Given the description of an element on the screen output the (x, y) to click on. 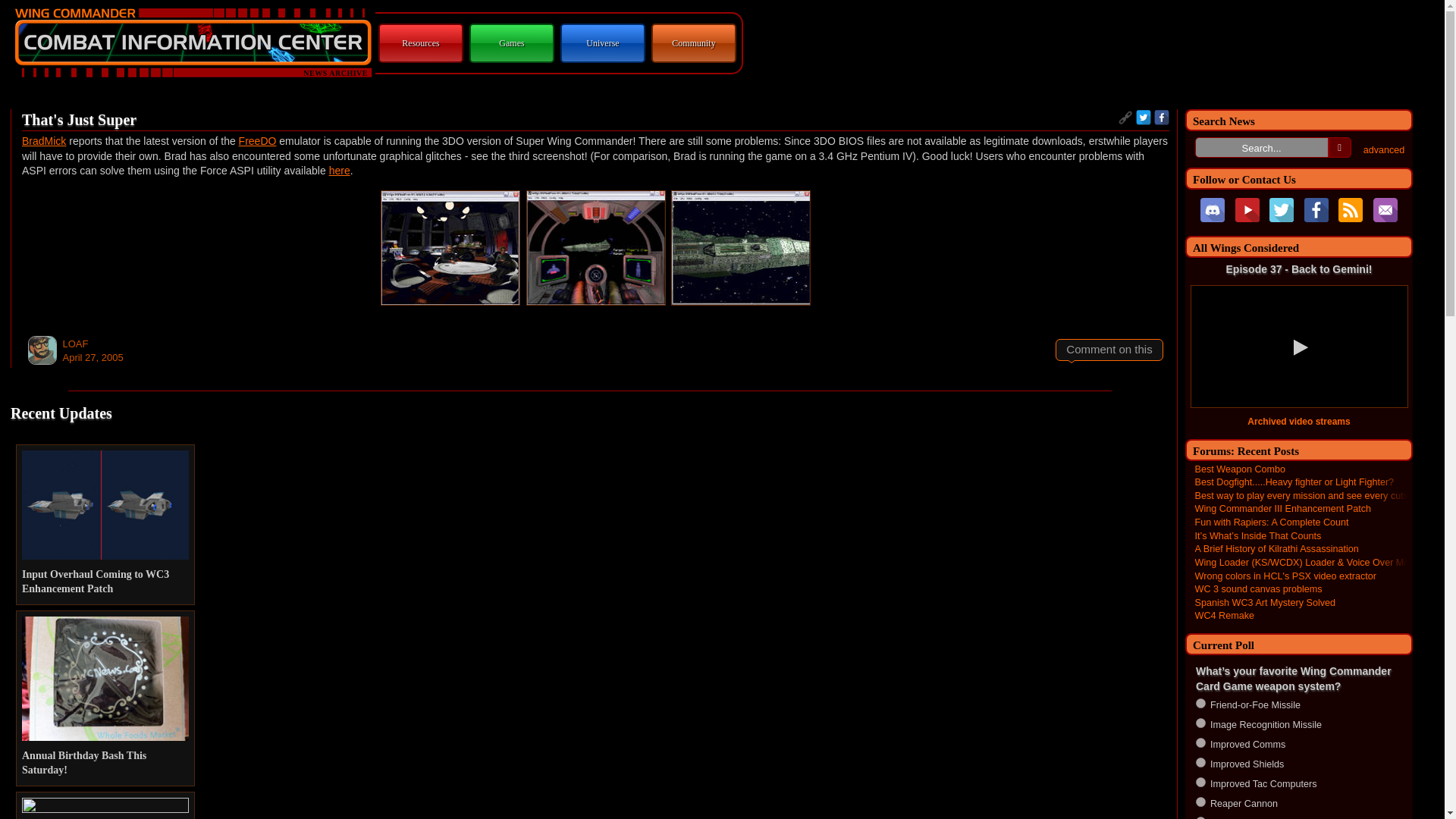
6 (1200, 801)
3 (1200, 742)
5 (1200, 782)
Share on Facebook (1161, 117)
4 (1200, 762)
Follow us on Facebook (1315, 209)
Games (511, 42)
Follow us on Twitter (1281, 209)
RSS news feed (1350, 209)
